Given the description of an element on the screen output the (x, y) to click on. 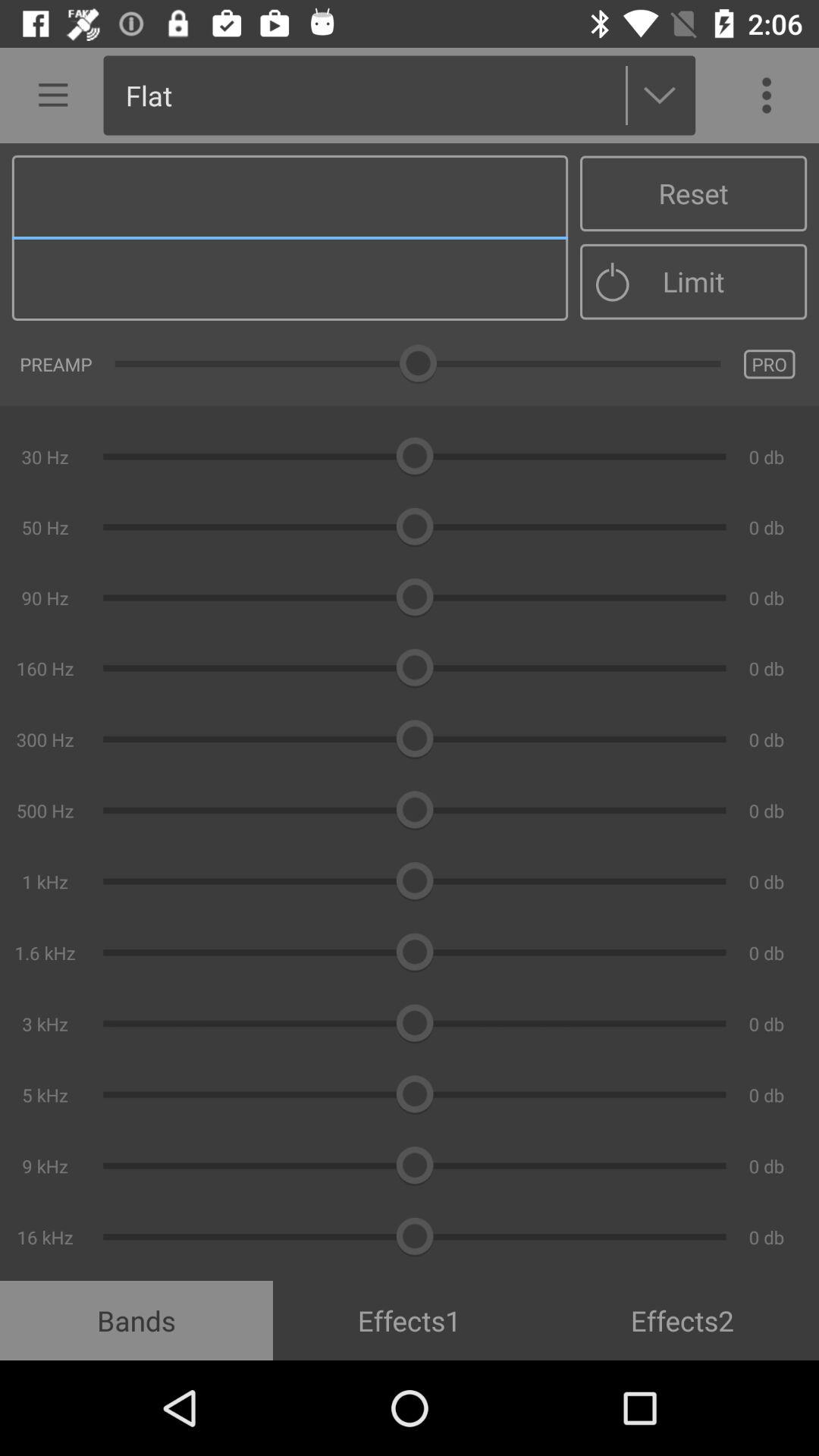
press the icon to the left of the flat icon (47, 95)
